Given the description of an element on the screen output the (x, y) to click on. 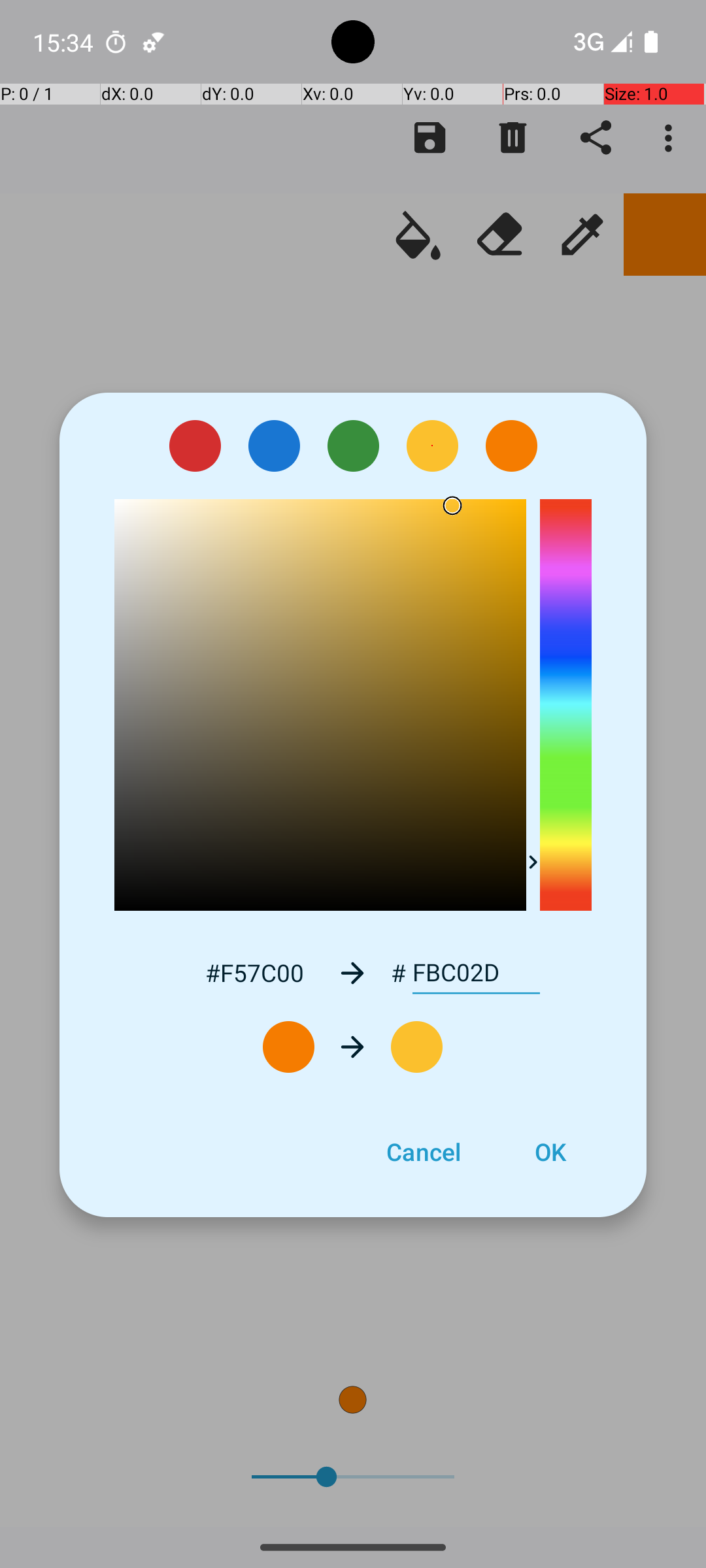
FBC02D Element type: android.widget.EditText (475, 972)
Android System notification: Wi‑Fi will turn on automatically Element type: android.widget.ImageView (153, 41)
